Given the description of an element on the screen output the (x, y) to click on. 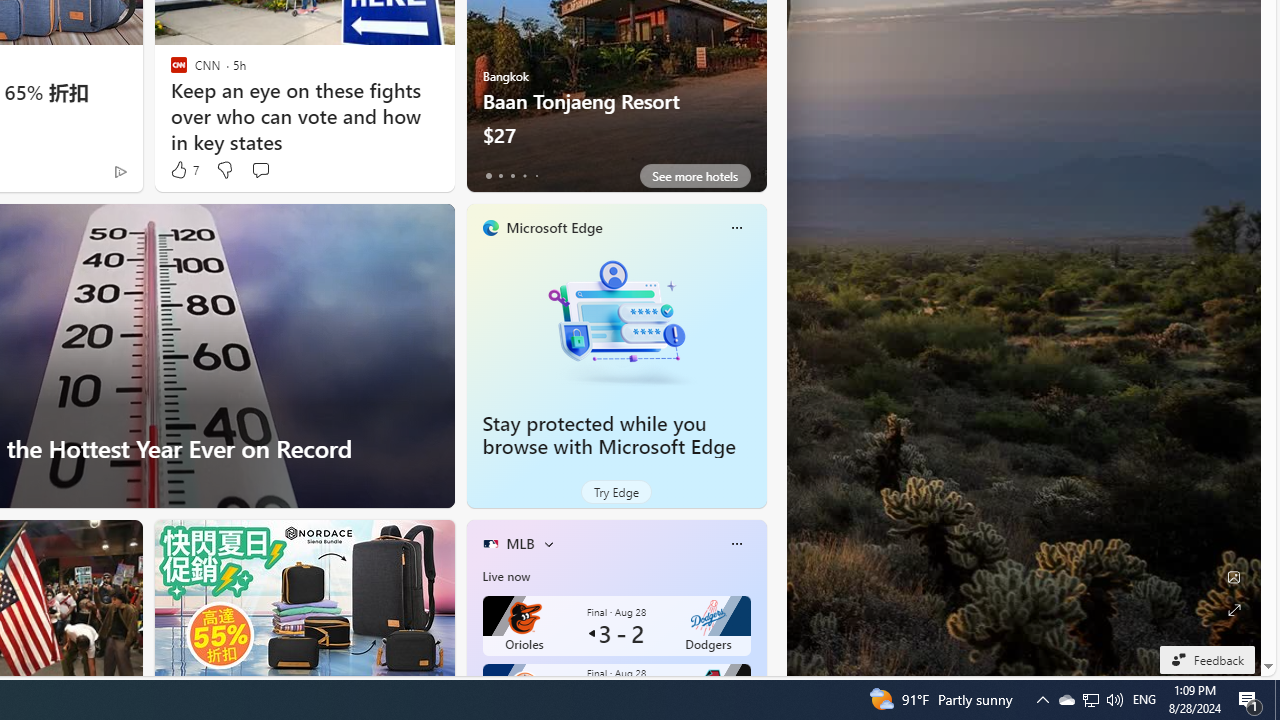
Ad Choice (119, 171)
See more hotels (694, 175)
tab-3 (524, 175)
Microsoft Edge (553, 227)
Try Edge (616, 491)
7 Like (183, 170)
tab-1 (500, 175)
Edit Background (1233, 577)
Dislike (224, 170)
tab-0 (488, 175)
Feedback (1206, 659)
tab-4 (535, 175)
Stay protected while you browse with Microsoft Edge (616, 321)
